Given the description of an element on the screen output the (x, y) to click on. 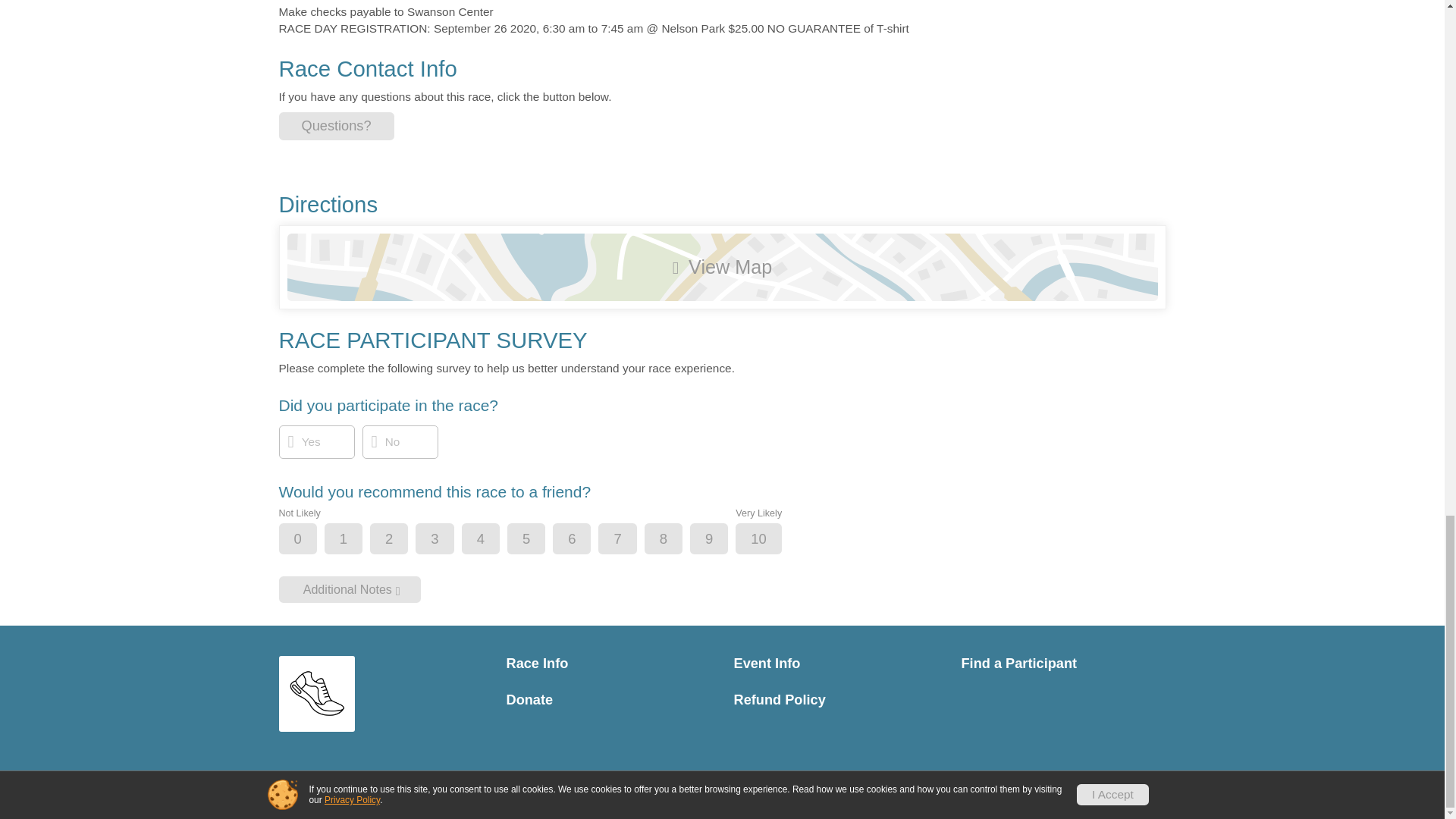
View Map (721, 267)
4 (493, 539)
1 (355, 539)
8 (675, 539)
9 (721, 539)
6 (584, 539)
Donate (608, 700)
0 (310, 539)
Event Info (836, 663)
7 (629, 539)
Additional Notes (349, 589)
3 (447, 539)
2 (401, 539)
Questions? (336, 126)
10 (770, 539)
